Given the description of an element on the screen output the (x, y) to click on. 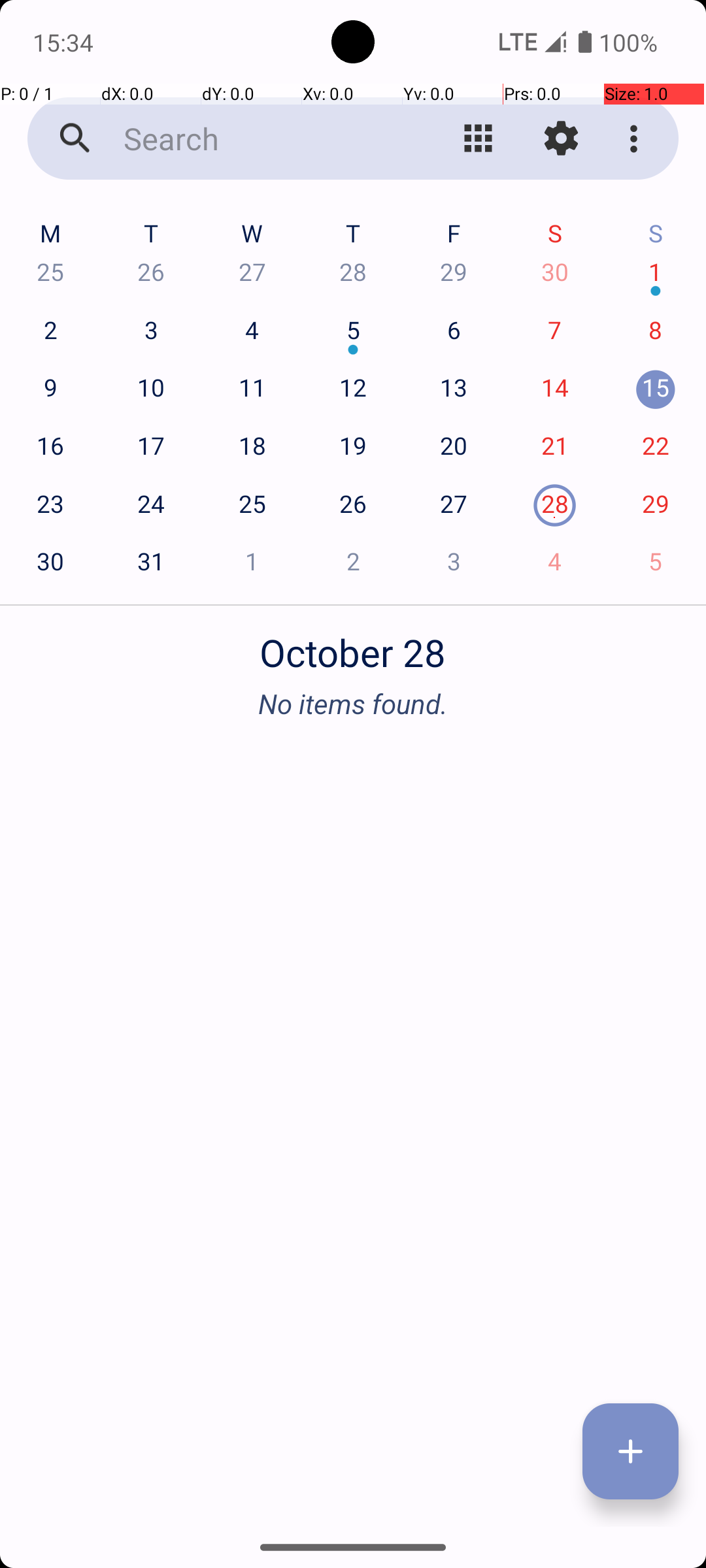
October 28 Element type: android.widget.TextView (352, 644)
